Given the description of an element on the screen output the (x, y) to click on. 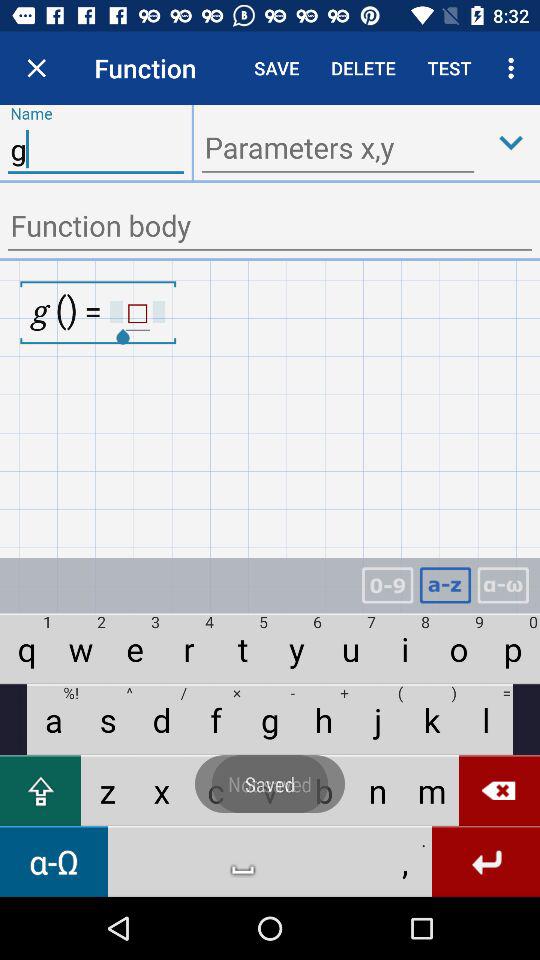
enter details (269, 227)
